Given the description of an element on the screen output the (x, y) to click on. 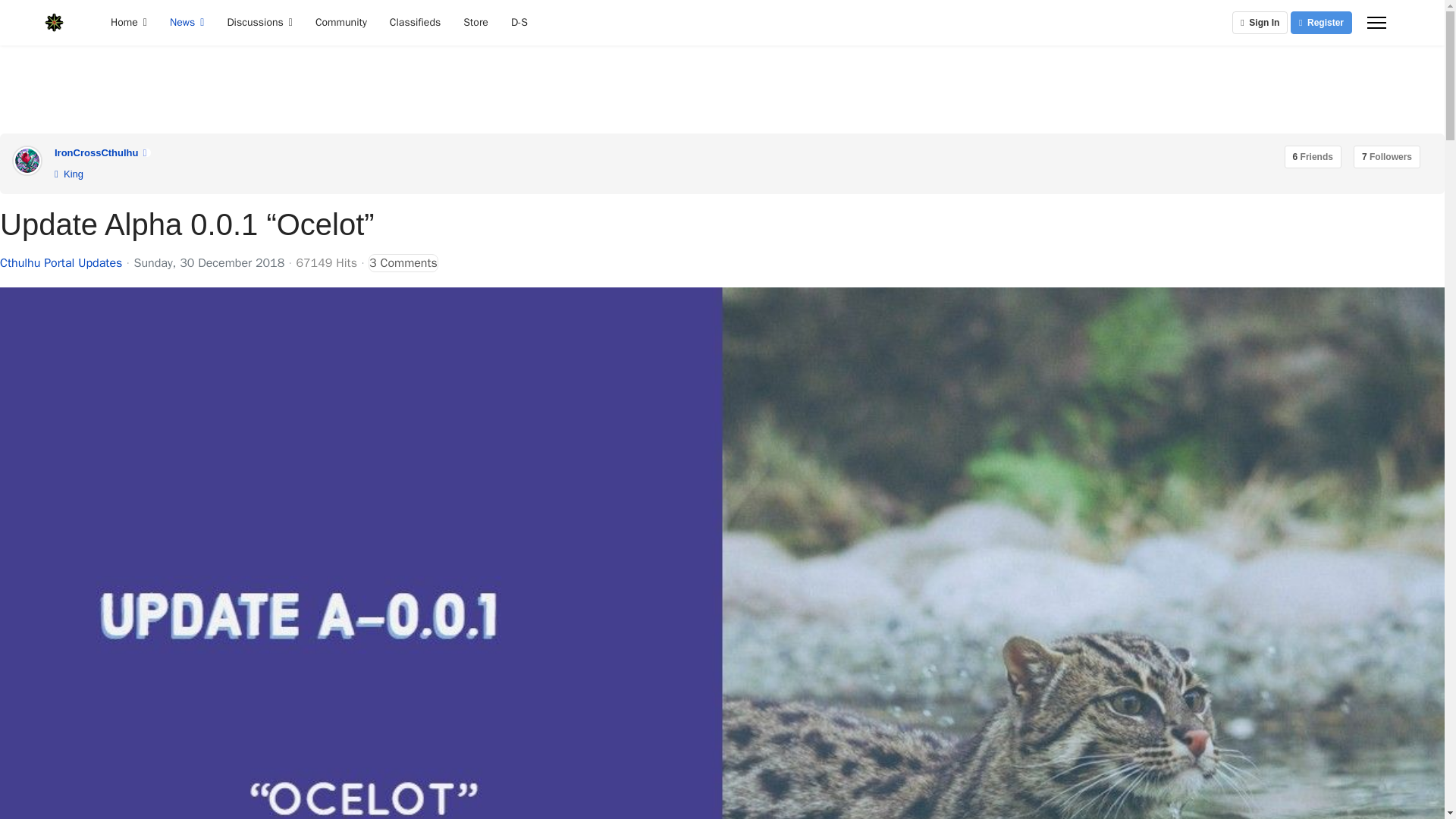
  Register (1321, 22)
Community (341, 22)
Classifieds (414, 22)
Home (128, 22)
7 Followers (1387, 156)
Cthulhu Portal Updates (61, 263)
News (186, 22)
  King (68, 173)
3 Comments (403, 262)
6 Friends (1312, 156)
IronCrossCthulhu (96, 152)
  Sign In (1259, 22)
Store (475, 22)
Discussions (259, 22)
IronCrossCthulhu (96, 152)
